Given the description of an element on the screen output the (x, y) to click on. 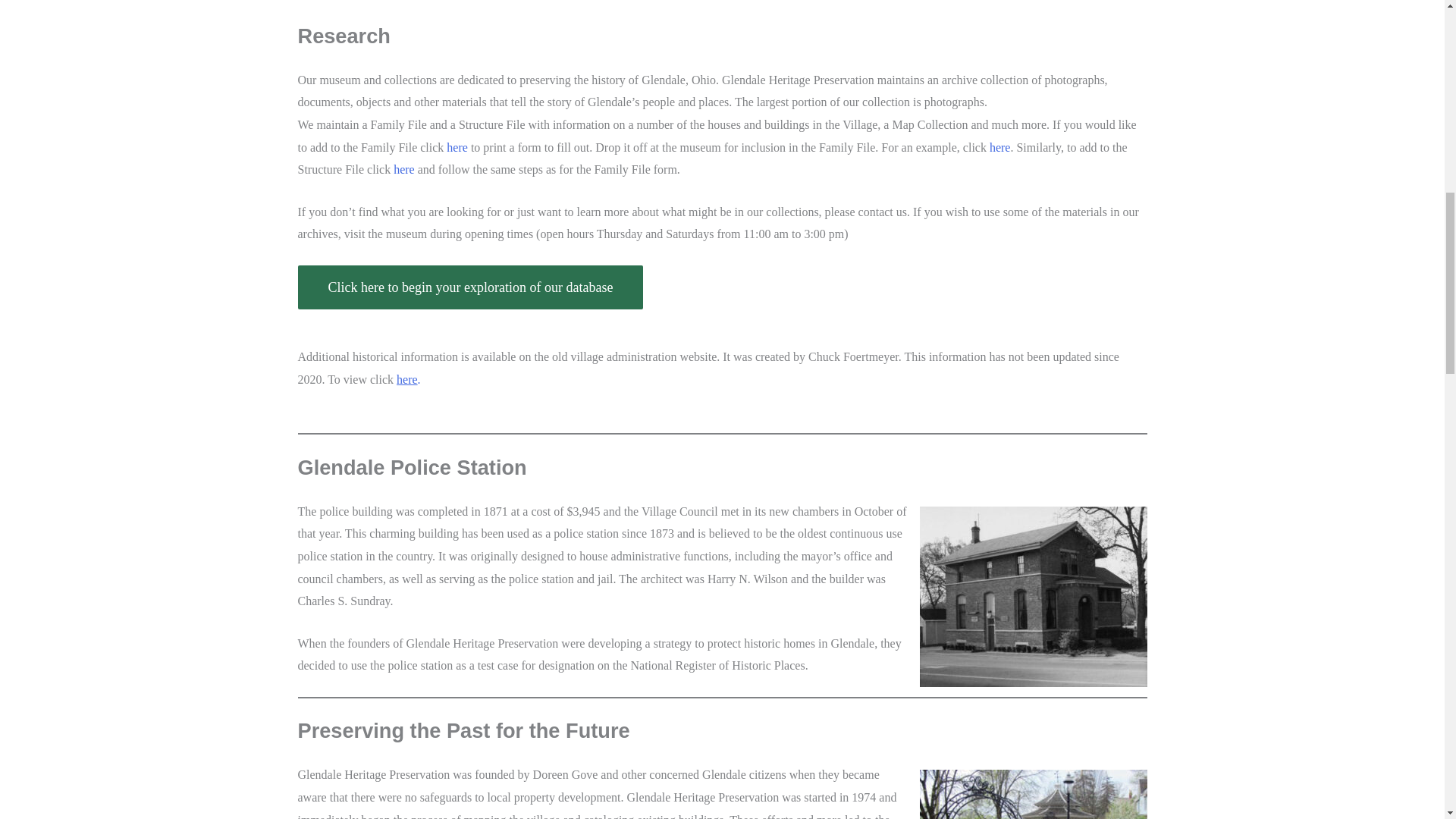
Click here to begin your exploration of our database (470, 287)
here (456, 146)
here (1000, 146)
here (403, 169)
here.  (409, 379)
